Given the description of an element on the screen output the (x, y) to click on. 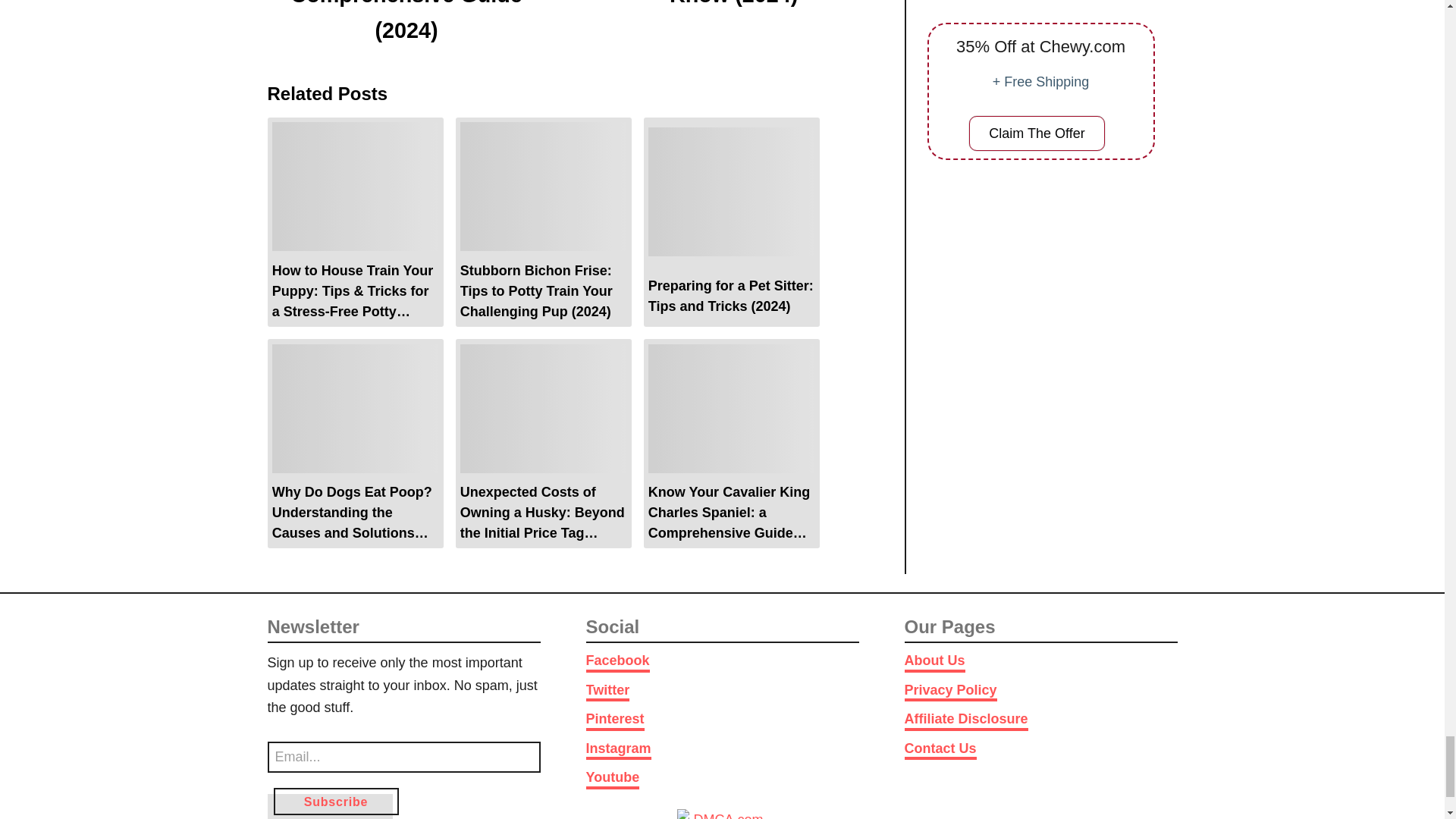
Subscribe (335, 800)
DMCA.com Protection Status (722, 814)
